Given the description of an element on the screen output the (x, y) to click on. 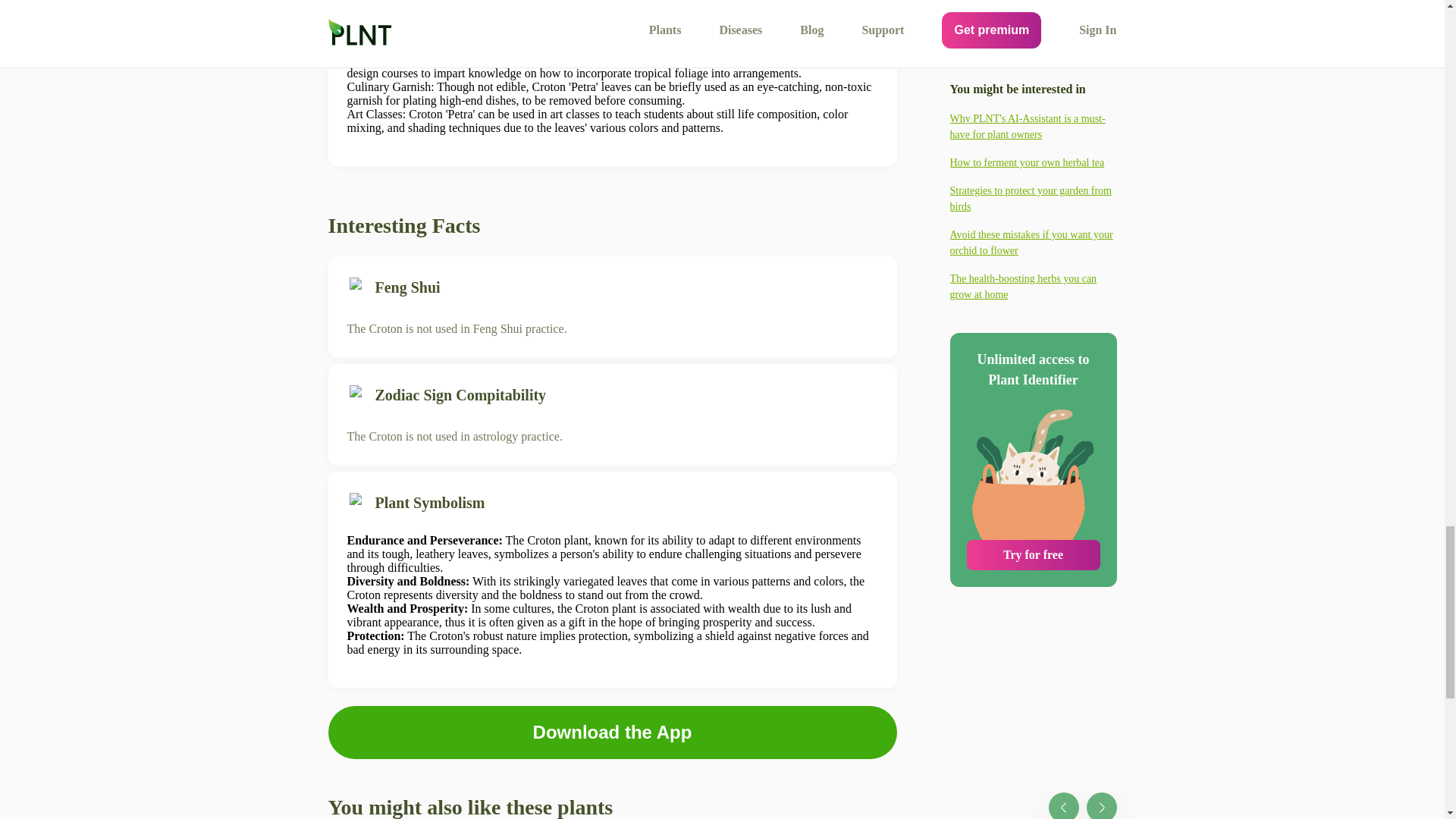
Download the App (611, 732)
Download the App (611, 732)
